Given the description of an element on the screen output the (x, y) to click on. 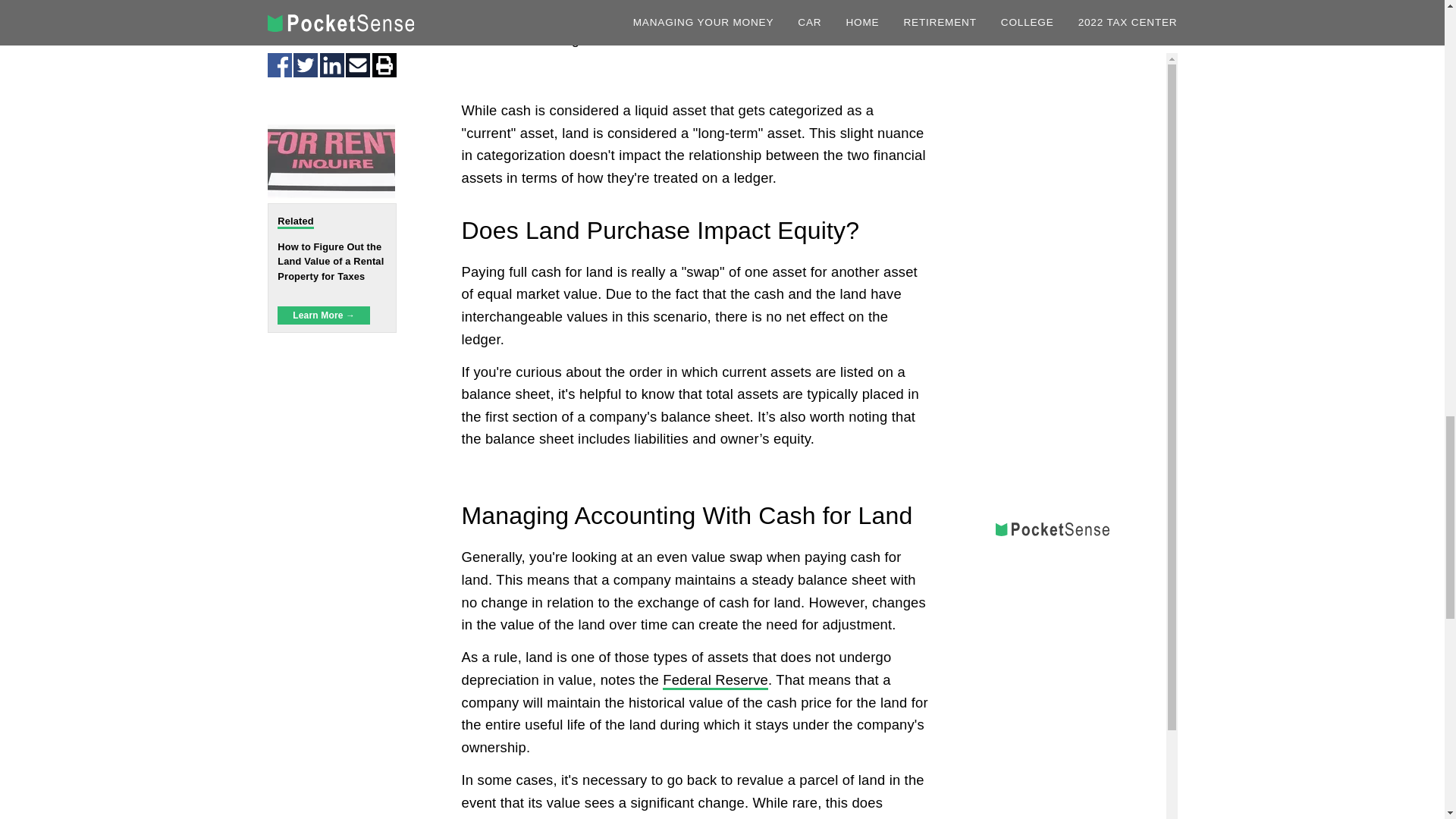
real estate (856, 817)
Federal Reserve (715, 680)
